Given the description of an element on the screen output the (x, y) to click on. 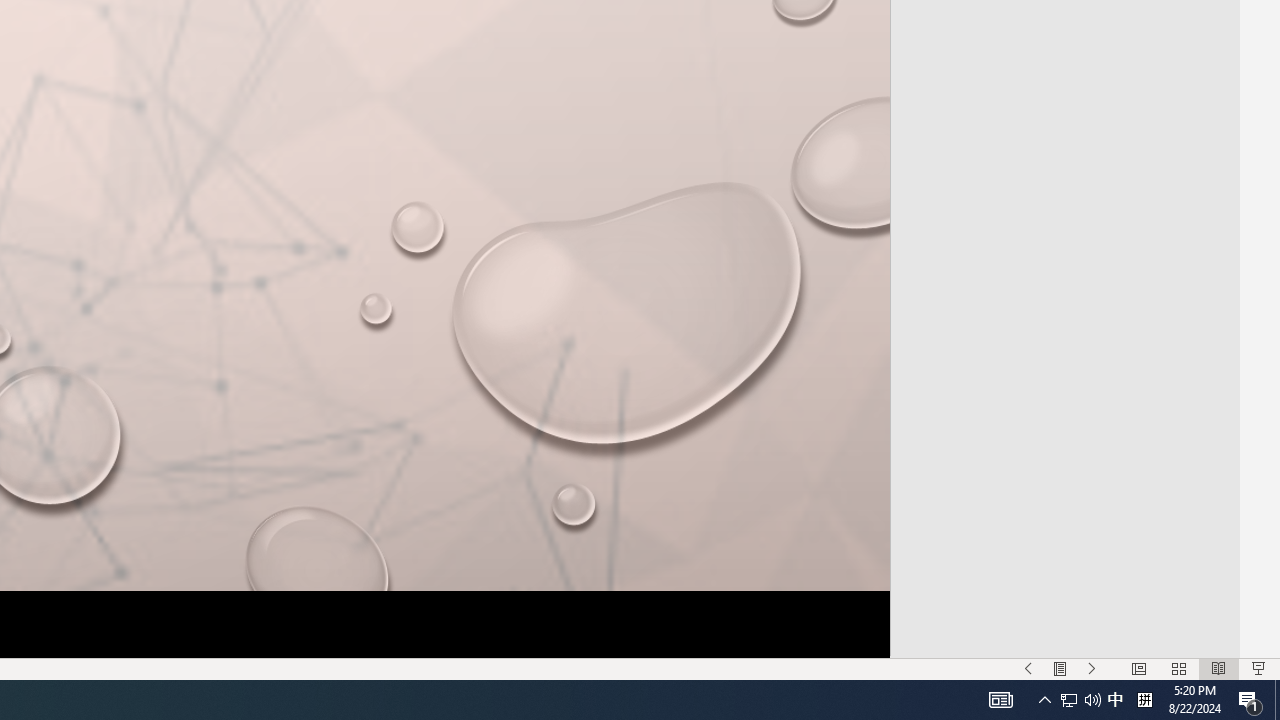
Slide Show Previous On (1028, 668)
Slide Show (1258, 668)
Menu On (1060, 668)
Reading View (1219, 668)
Normal (1138, 668)
Slide Show Next On (1092, 668)
Slide Sorter (1178, 668)
